Given the description of an element on the screen output the (x, y) to click on. 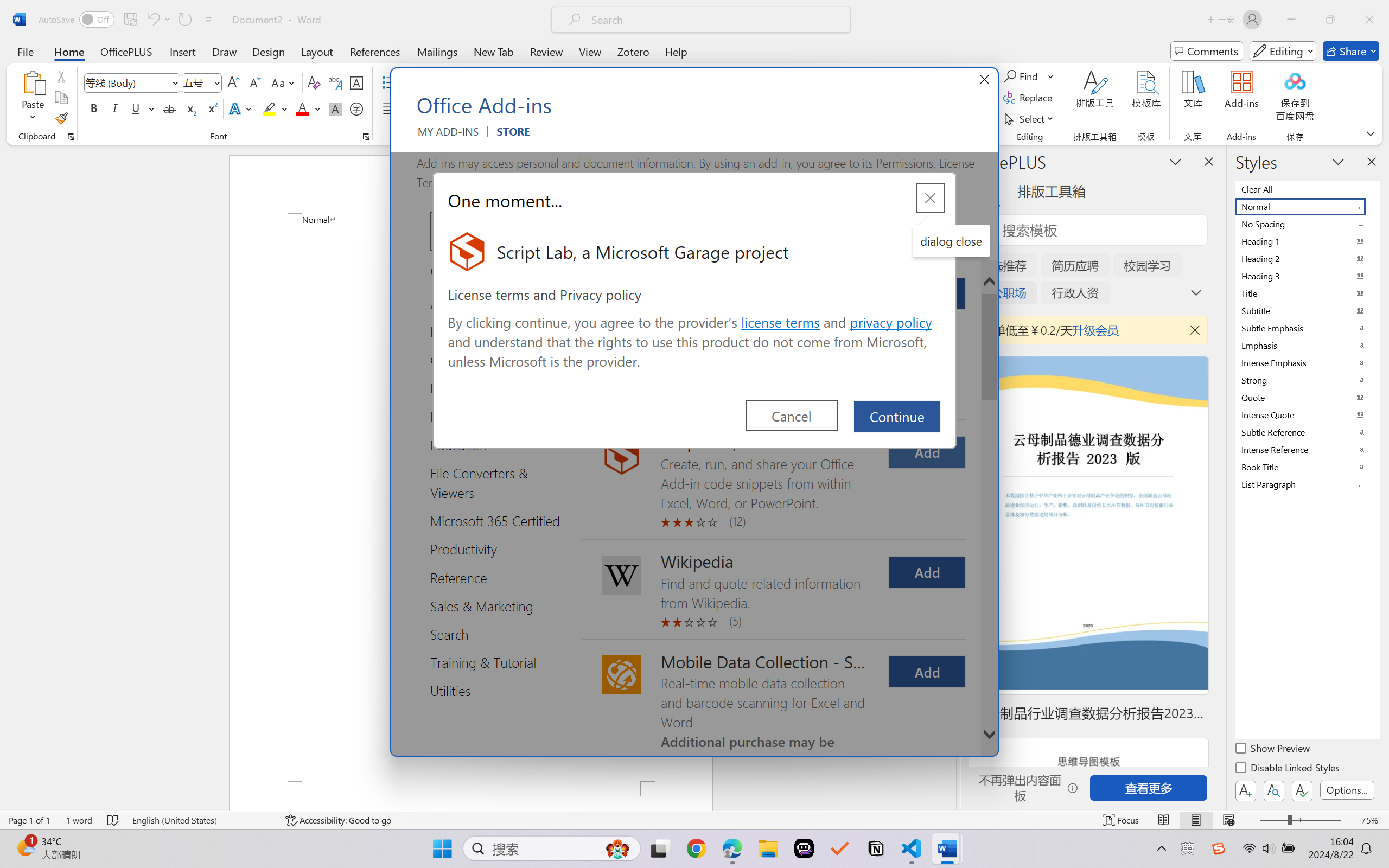
Class: NetUIButton (1301, 790)
Options... (1346, 789)
Change Case (284, 82)
Task Pane Options (1175, 161)
More Options (1051, 75)
Character Border (356, 82)
OfficePLUS (126, 51)
Bold (94, 108)
dialog close (950, 240)
Class: Image (1218, 847)
Office Clipboard... (70, 136)
Superscript (210, 108)
